Given the description of an element on the screen output the (x, y) to click on. 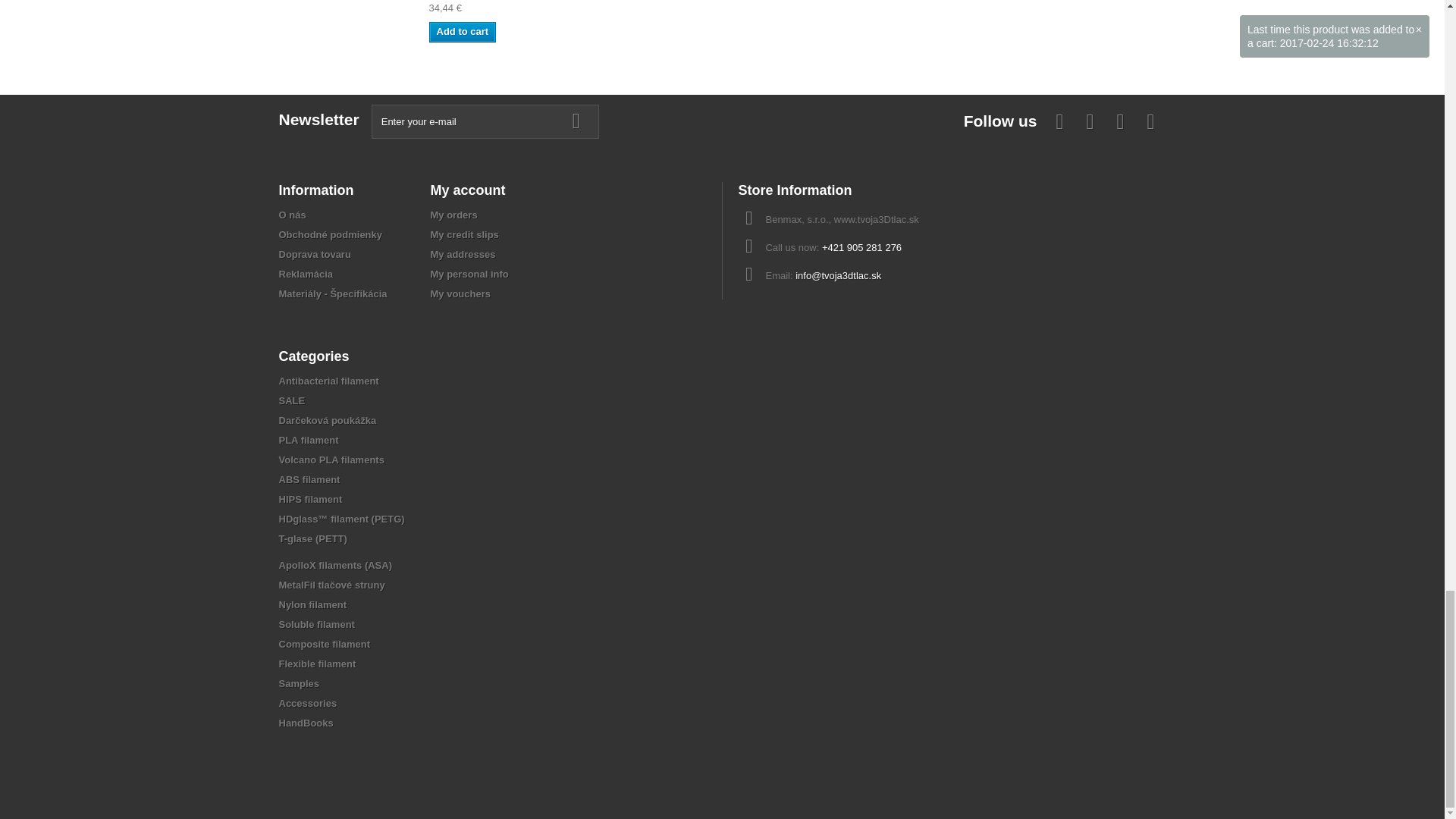
Enter your e-mail (484, 121)
